Given the description of an element on the screen output the (x, y) to click on. 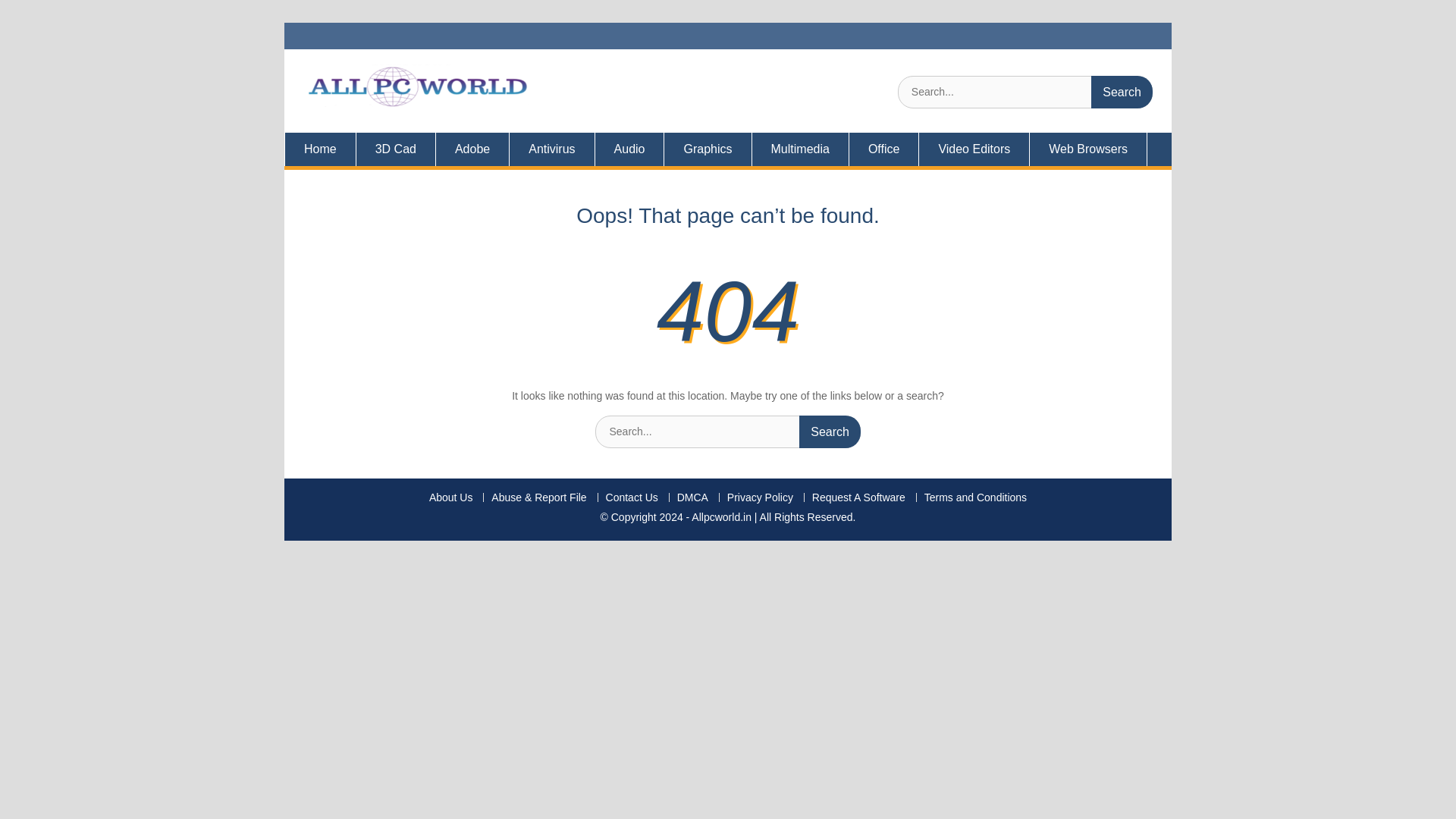
DMCA (692, 497)
Search (1121, 92)
Home (319, 149)
Graphics (707, 149)
Terms and Conditions (974, 497)
Search for: (1025, 92)
Office (884, 149)
Search (1121, 92)
Search (829, 431)
Multimedia (800, 149)
Contact Us (630, 497)
Audio (630, 149)
Search (1121, 92)
Video Editors (973, 149)
Web Browsers (1088, 149)
